Given the description of an element on the screen output the (x, y) to click on. 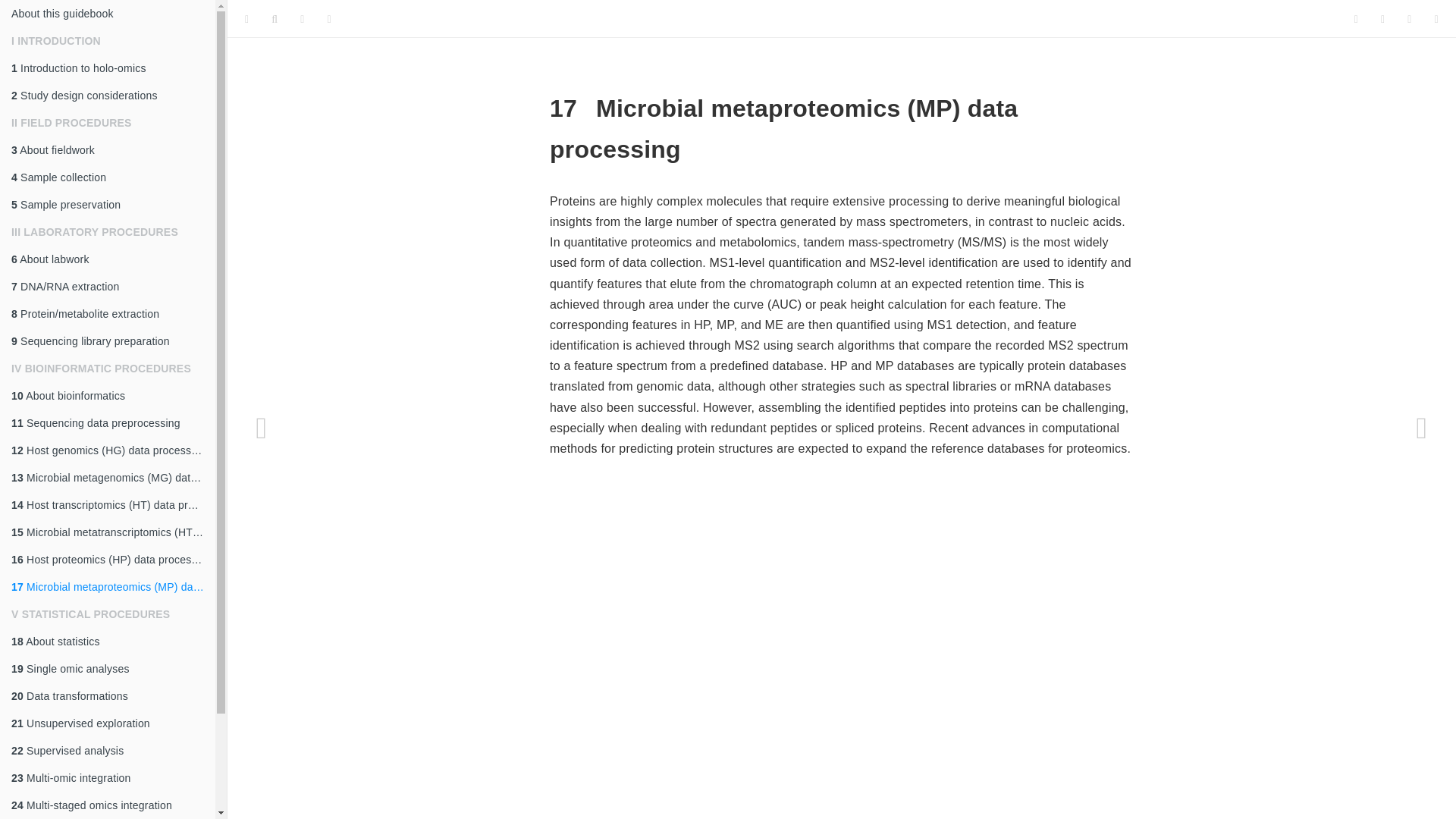
1 Introduction to holo-omics (107, 67)
About this guidebook (107, 13)
3 About fieldwork (107, 149)
5 Sample preservation (107, 204)
2 Study design considerations (107, 94)
6 About labwork (107, 258)
4 Sample collection (107, 176)
